Given the description of an element on the screen output the (x, y) to click on. 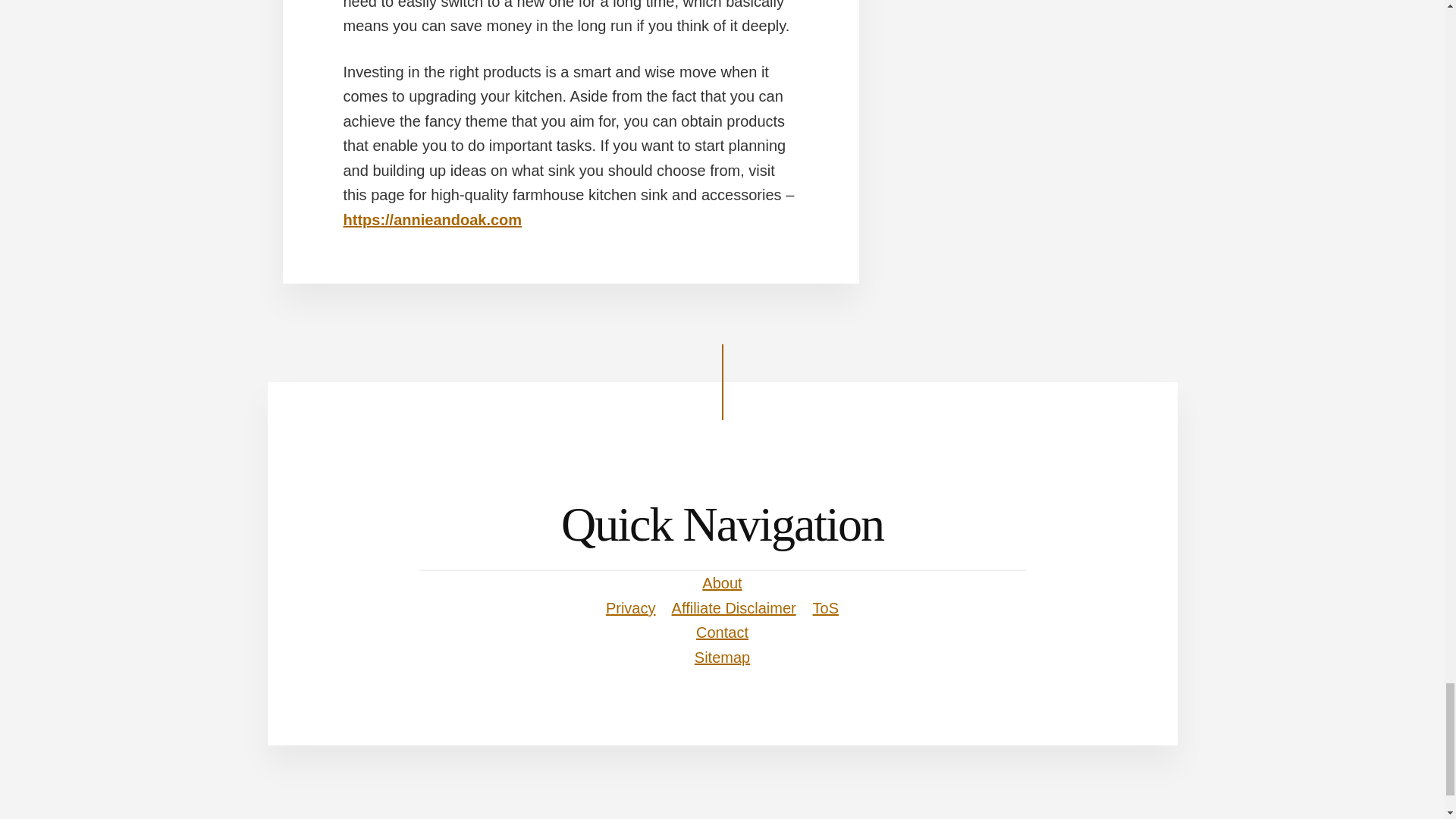
Privacy (630, 607)
Contact (721, 632)
About (721, 582)
ToS (825, 607)
Affiliate Disclaimer (733, 607)
Sitemap (721, 657)
